Given the description of an element on the screen output the (x, y) to click on. 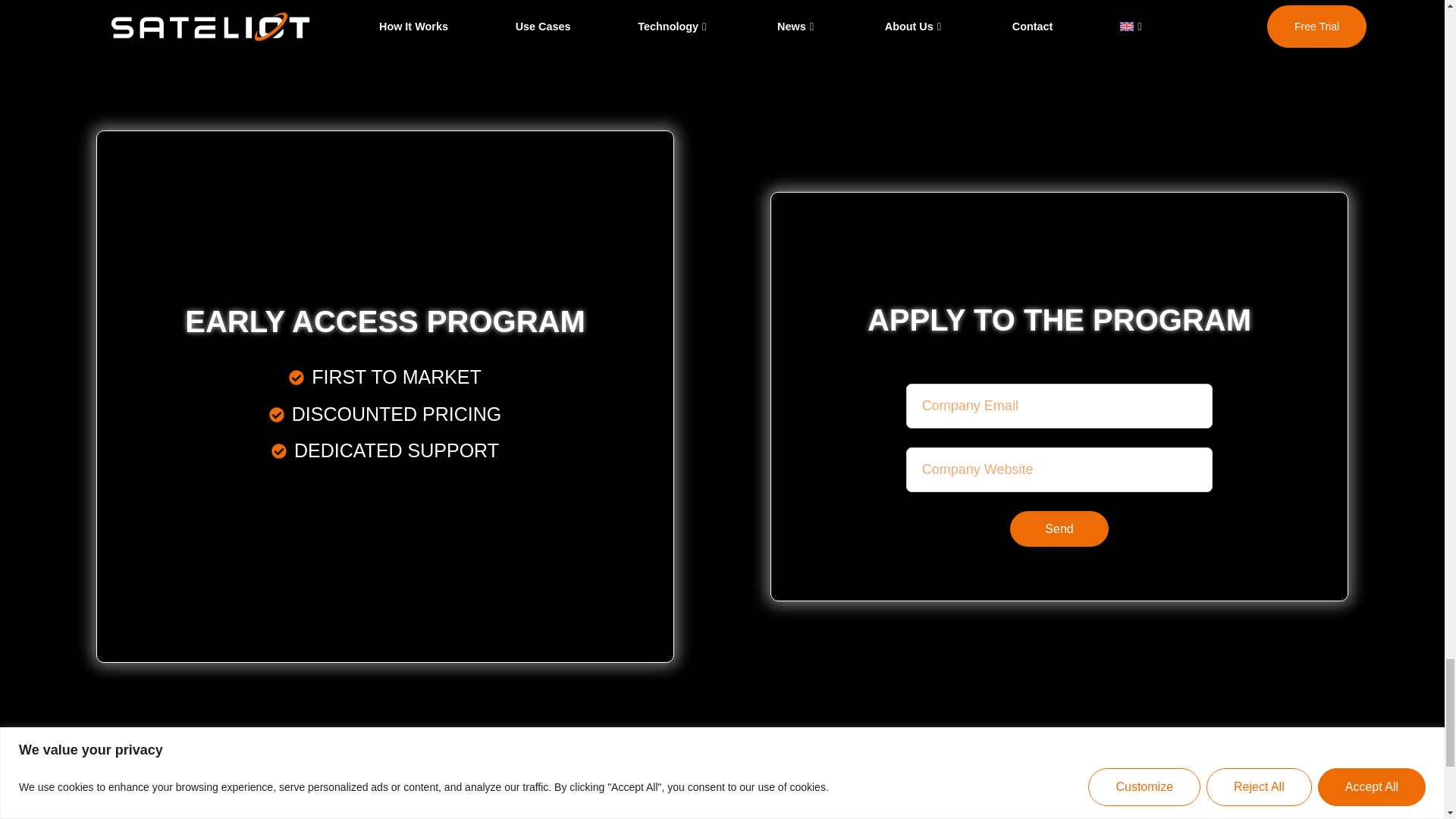
5G Satellite IoT 9 (175, 800)
